Given the description of an element on the screen output the (x, y) to click on. 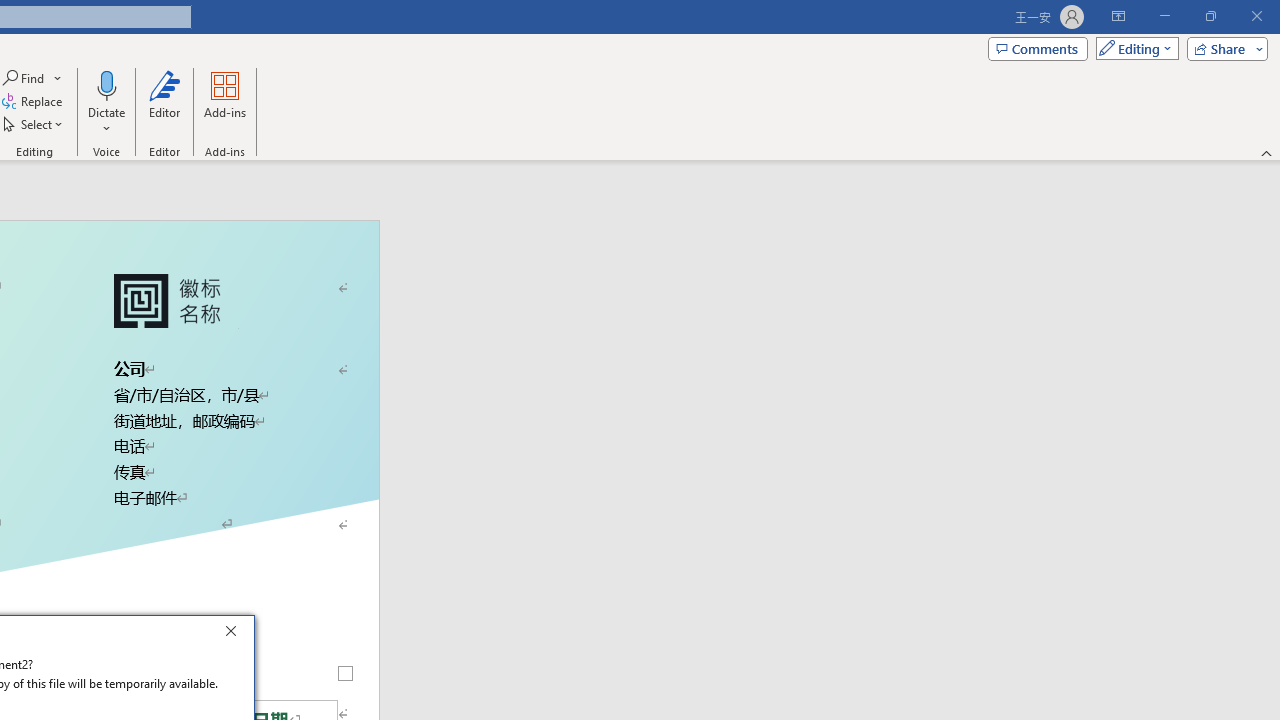
Mode (1133, 47)
More Options (106, 121)
Share (1223, 48)
Minimize (1164, 16)
Comments (1038, 48)
Collapse the Ribbon (1267, 152)
Dictate (106, 102)
Editor (164, 102)
Restore Down (1210, 16)
Dictate (106, 84)
Close (236, 633)
Ribbon Display Options (1118, 16)
